Given the description of an element on the screen output the (x, y) to click on. 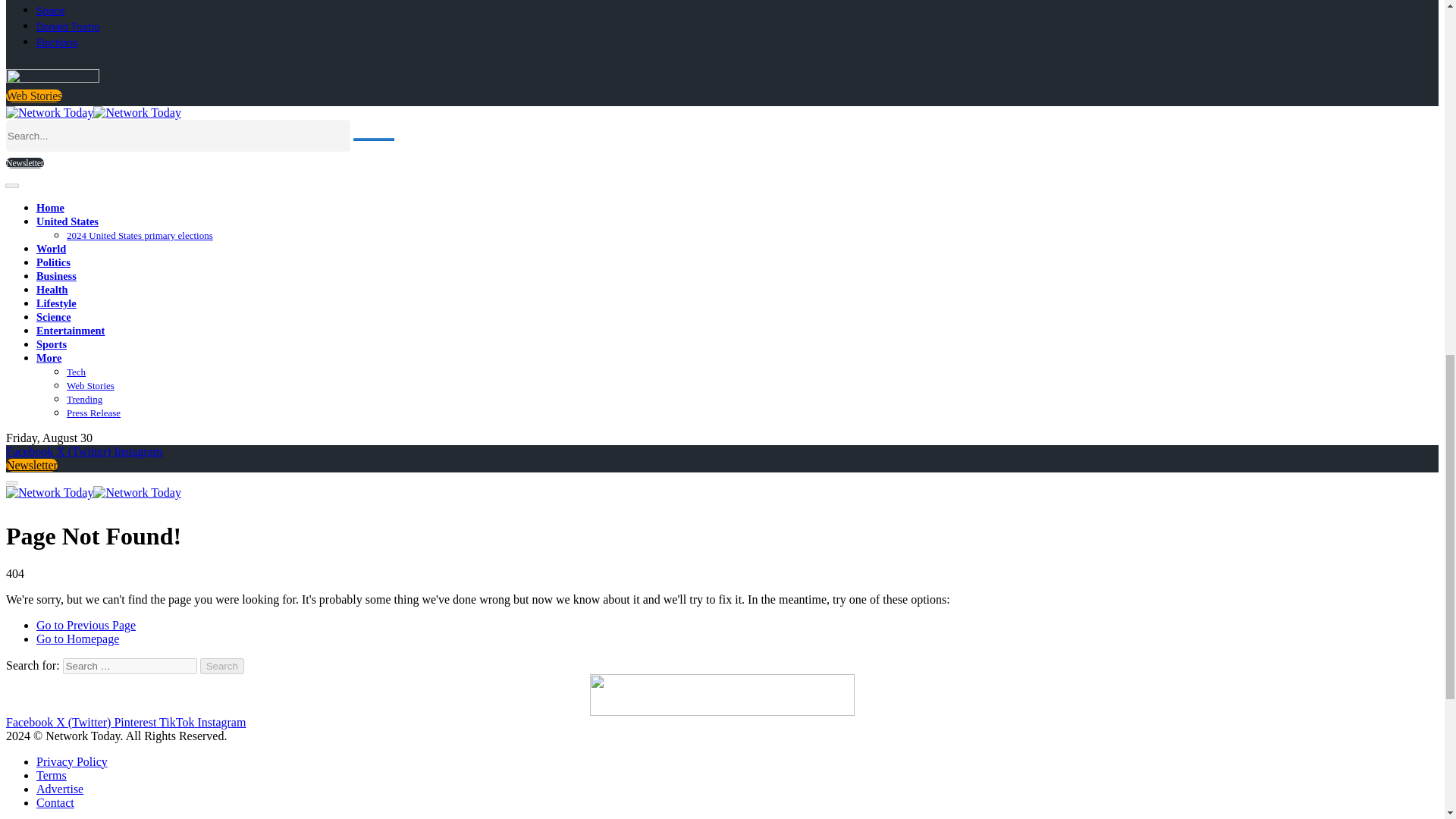
Donald Trump (67, 26)
Search (222, 666)
Space (50, 10)
Search (222, 666)
Newsletter (24, 163)
Elections (56, 42)
Web Stories (33, 95)
Travel (49, 0)
Network Today (92, 112)
Network Today (92, 492)
